Given the description of an element on the screen output the (x, y) to click on. 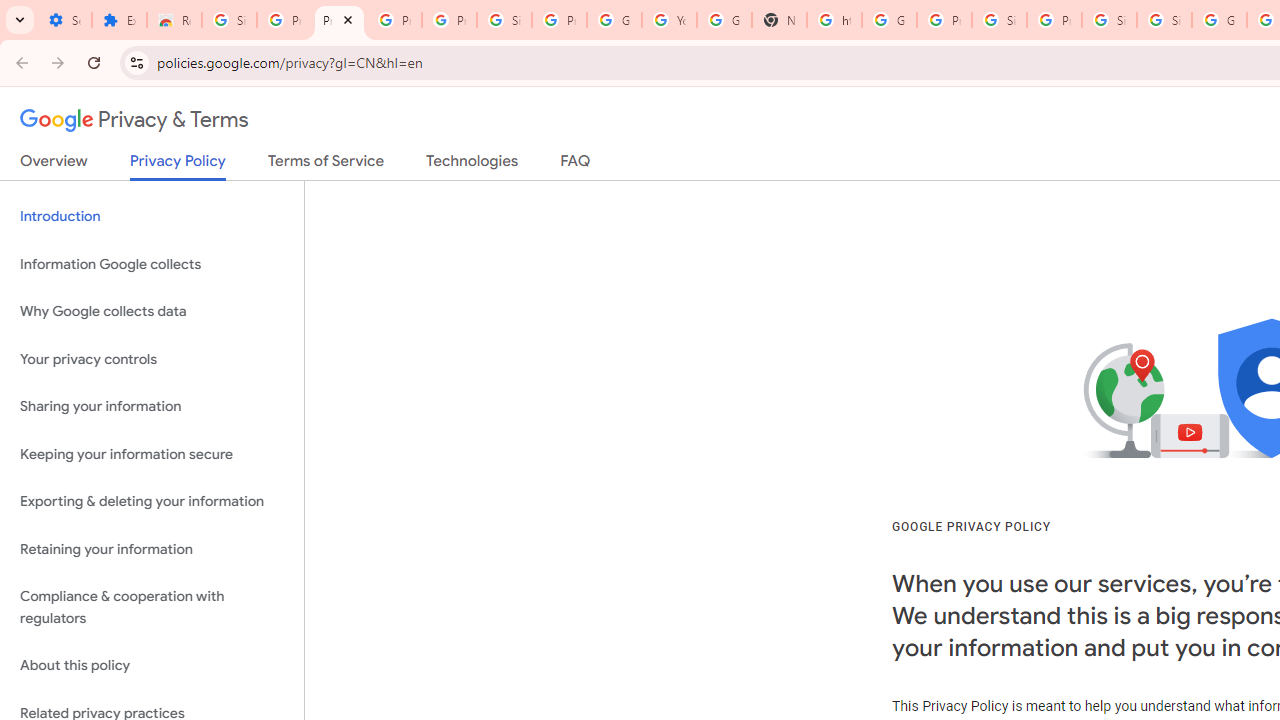
New Tab (779, 20)
Introduction (152, 216)
Keeping your information secure (152, 453)
Information Google collects (152, 263)
Sign in - Google Accounts (1108, 20)
Settings - On startup (64, 20)
Sign in - Google Accounts (504, 20)
Sign in - Google Accounts (229, 20)
